Given the description of an element on the screen output the (x, y) to click on. 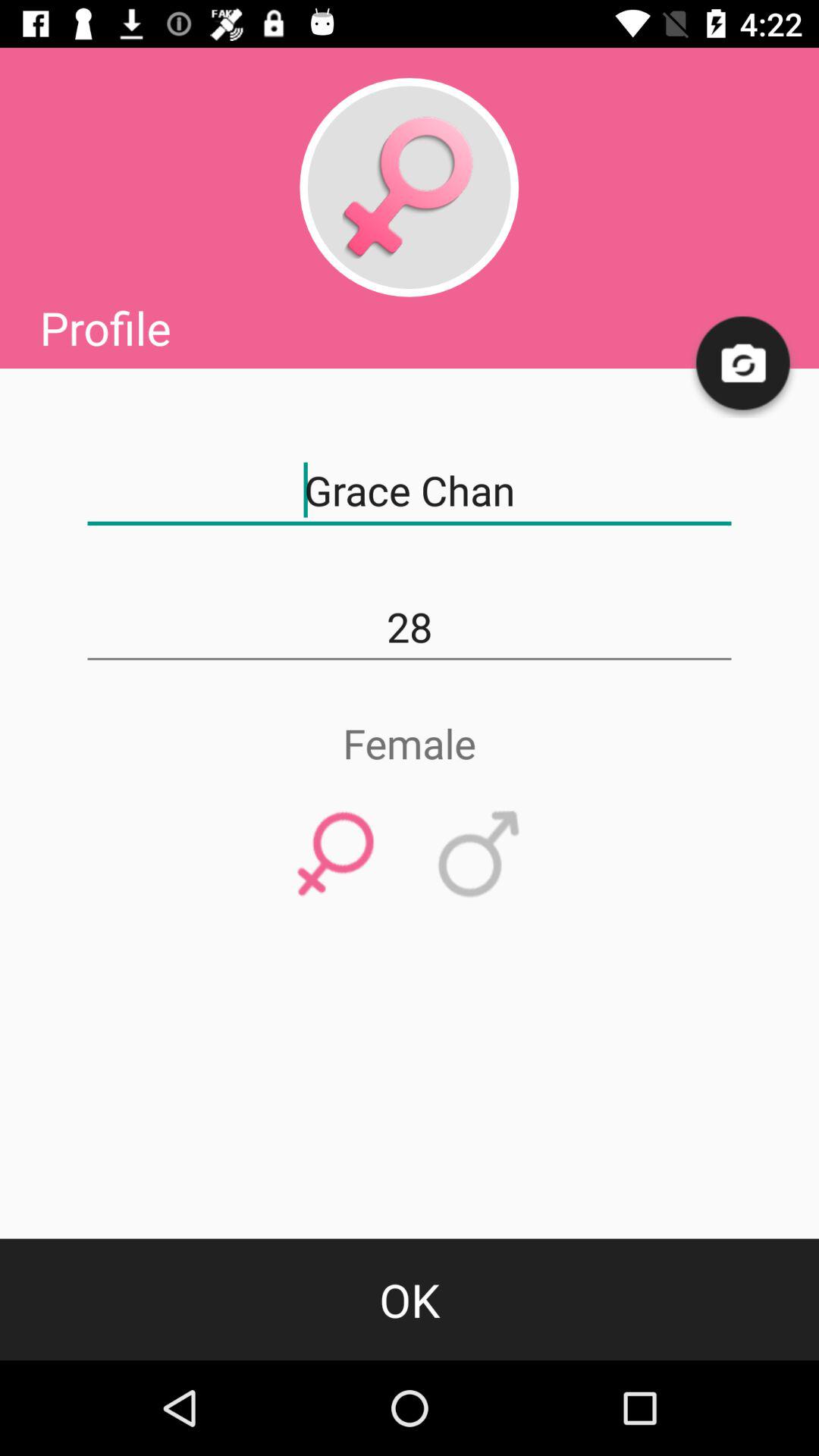
press icon below female (479, 854)
